Given the description of an element on the screen output the (x, y) to click on. 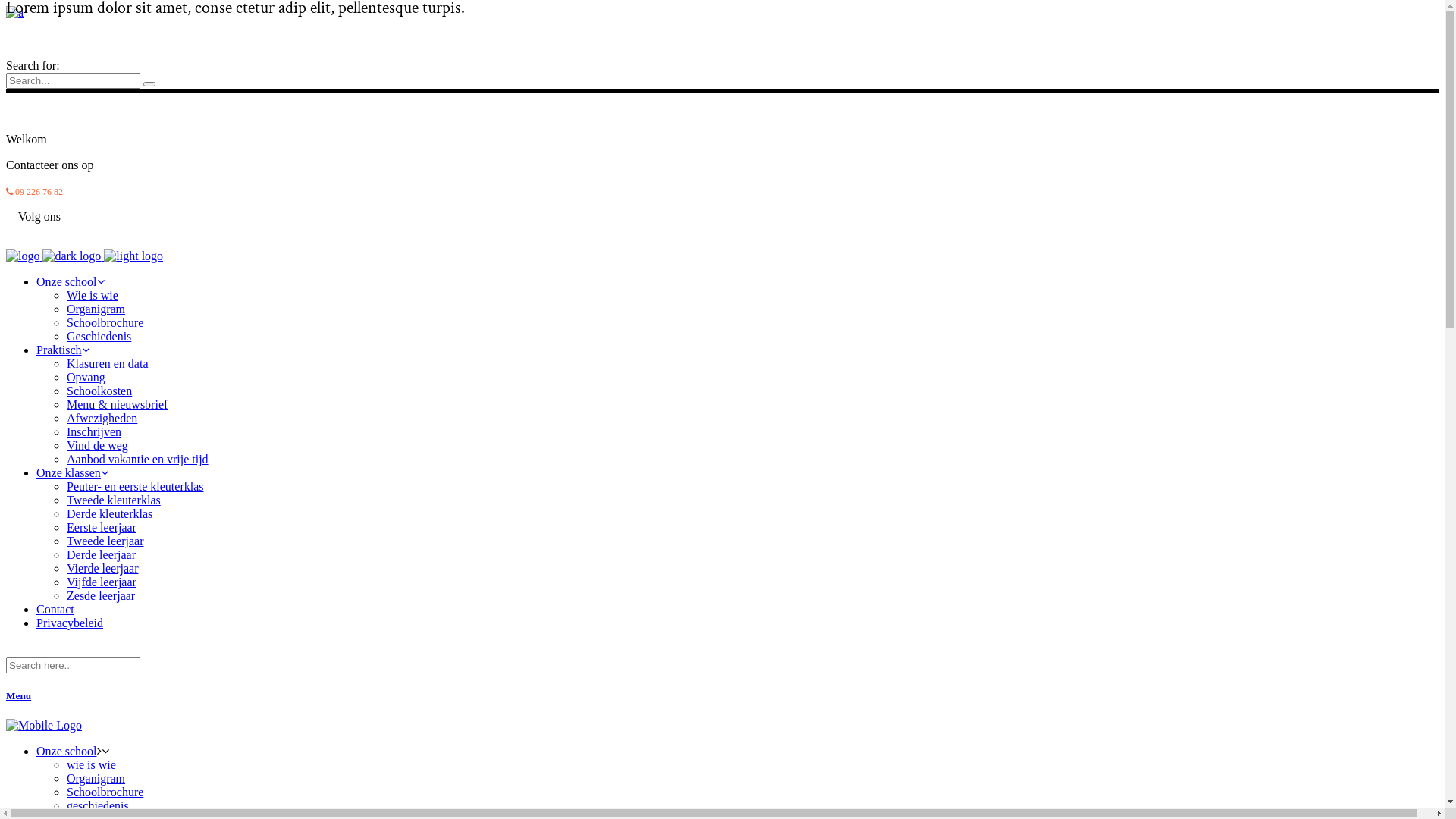
Vierde leerjaar Element type: text (102, 567)
Organigram Element type: text (95, 777)
Tweede leerjaar Element type: text (104, 540)
Afwezigheden Element type: text (101, 417)
Menu Element type: text (722, 696)
Schoolkosten Element type: text (98, 390)
Contact Element type: text (55, 608)
Geschiedenis Element type: text (98, 335)
Schoolbrochure Element type: text (104, 322)
Praktisch Element type: text (62, 349)
Vijfde leerjaar Element type: text (101, 581)
Schoolbrochure Element type: text (104, 791)
Opvang Element type: text (85, 376)
Vind de weg Element type: text (97, 445)
09 226 76 82 Element type: text (34, 191)
Inschrijven Element type: text (93, 431)
Search for: Element type: hover (73, 80)
Onze school Element type: text (66, 750)
geschiedenis Element type: text (97, 805)
Derde kleuterklas Element type: text (109, 513)
Wie is wie Element type: text (92, 294)
Onze klassen Element type: text (72, 472)
Privacybeleid Element type: text (69, 622)
Peuter- en eerste kleuterklas Element type: text (134, 486)
Eerste leerjaar Element type: text (101, 526)
Onze school Element type: text (70, 281)
Organigram Element type: text (95, 308)
Tweede kleuterklas Element type: text (113, 499)
Menu & nieuwsbrief Element type: text (116, 404)
Zesde leerjaar Element type: text (100, 595)
Derde leerjaar Element type: text (100, 554)
Aanbod vakantie en vrije tijd Element type: text (137, 458)
wie is wie Element type: text (91, 764)
Klasuren en data Element type: text (107, 363)
